Given the description of an element on the screen output the (x, y) to click on. 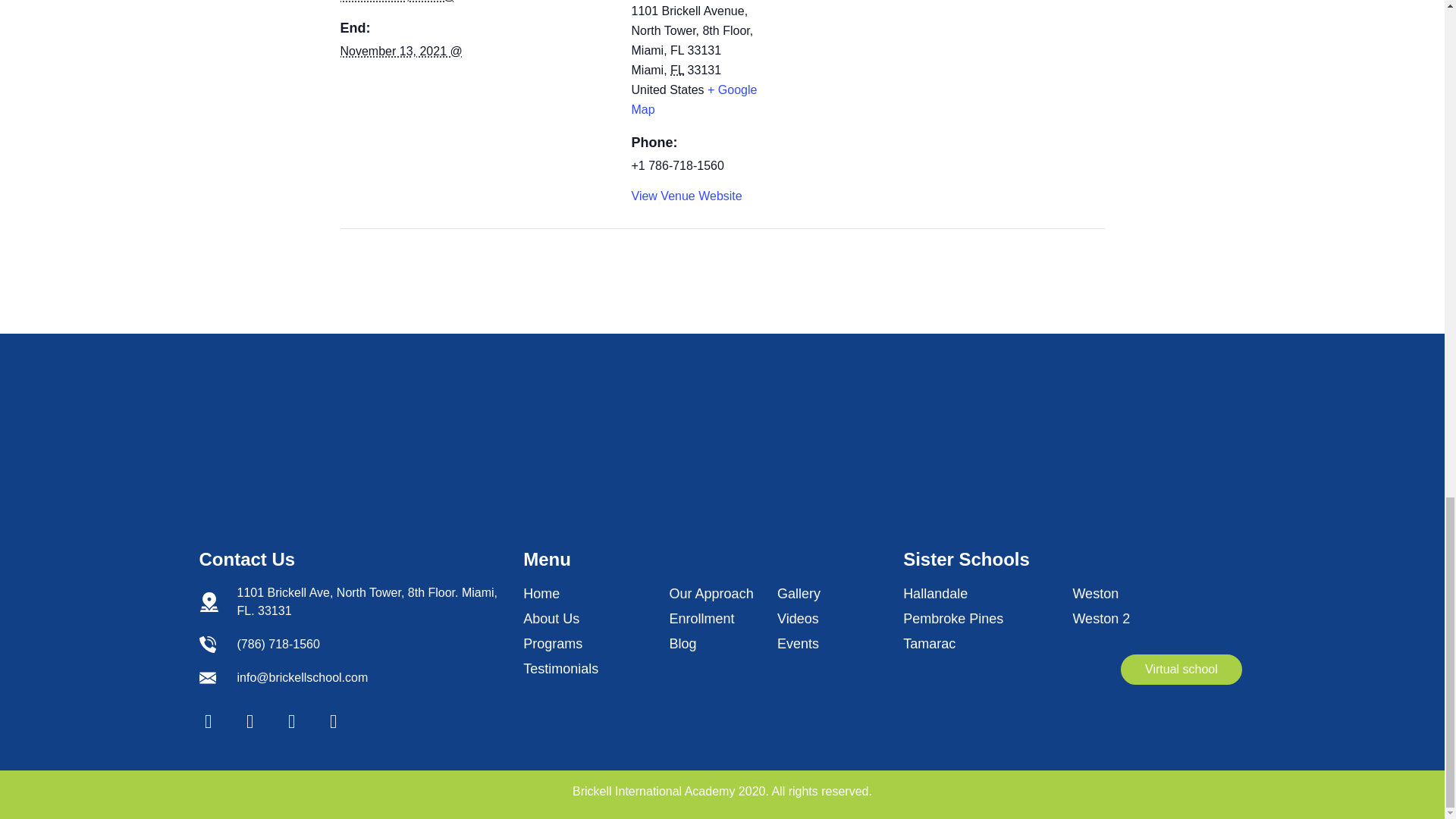
2021-11-13 (400, 51)
Click to view a Google Map (693, 99)
2021-11-08 (396, 1)
